Given the description of an element on the screen output the (x, y) to click on. 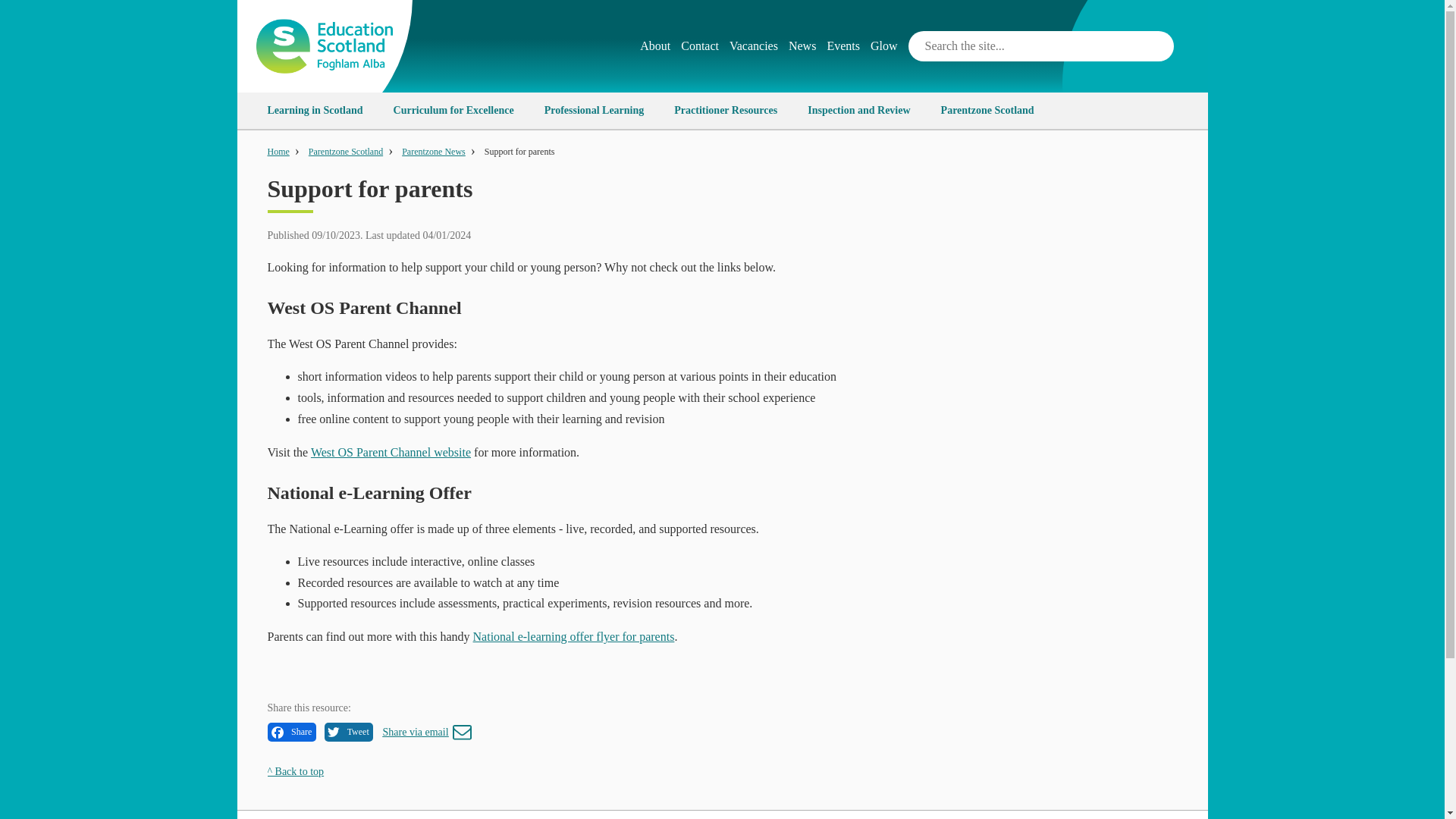
News (808, 46)
PDF file: National e-learning offer flyer for parents. (574, 635)
Events (848, 46)
Contact (705, 46)
Glow (889, 46)
About (660, 46)
Vacancies (759, 46)
Curriculum for Excellence (453, 110)
Learning in Scotland (314, 110)
